Given the description of an element on the screen output the (x, y) to click on. 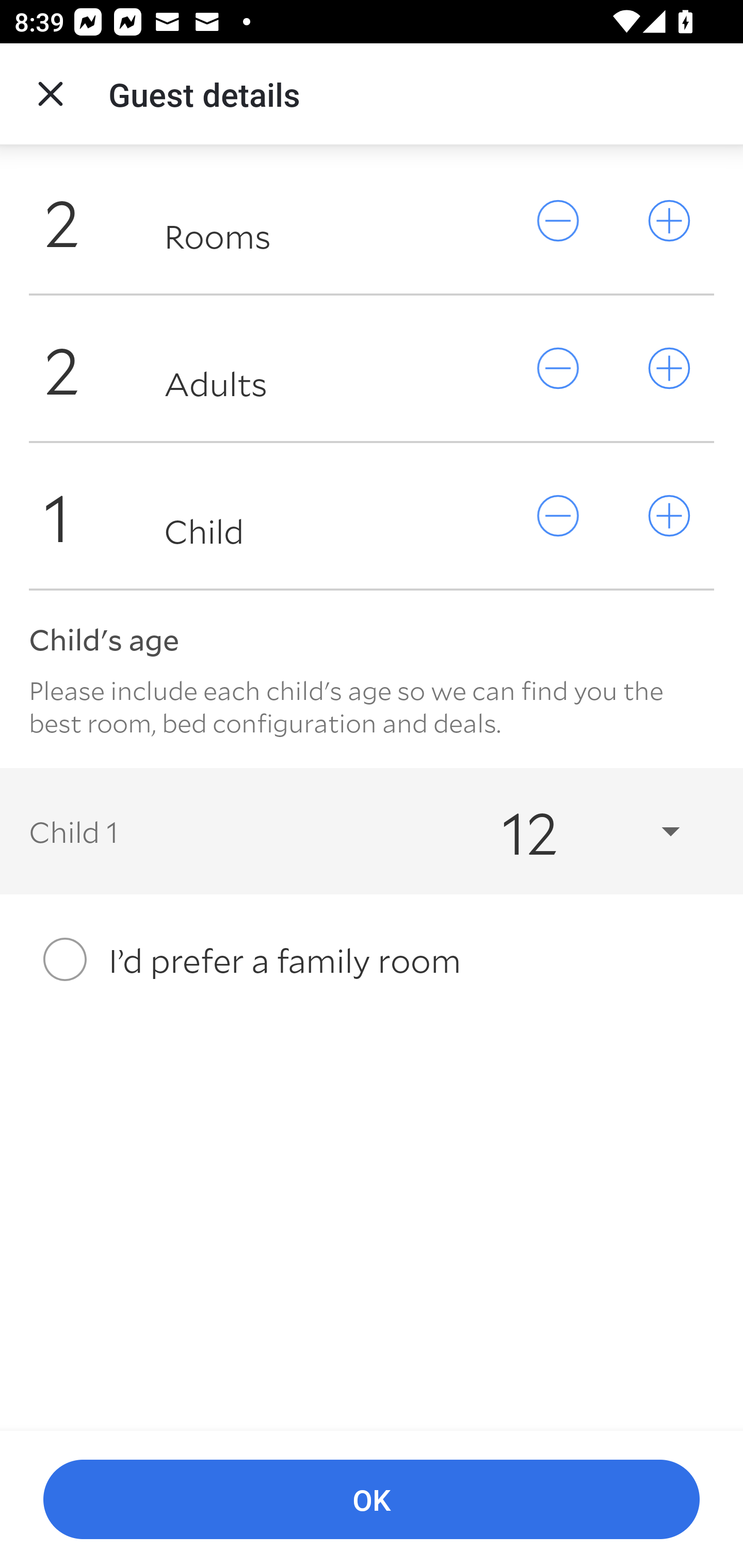
12 (573, 830)
I’d prefer a family room (371, 959)
OK (371, 1499)
